Given the description of an element on the screen output the (x, y) to click on. 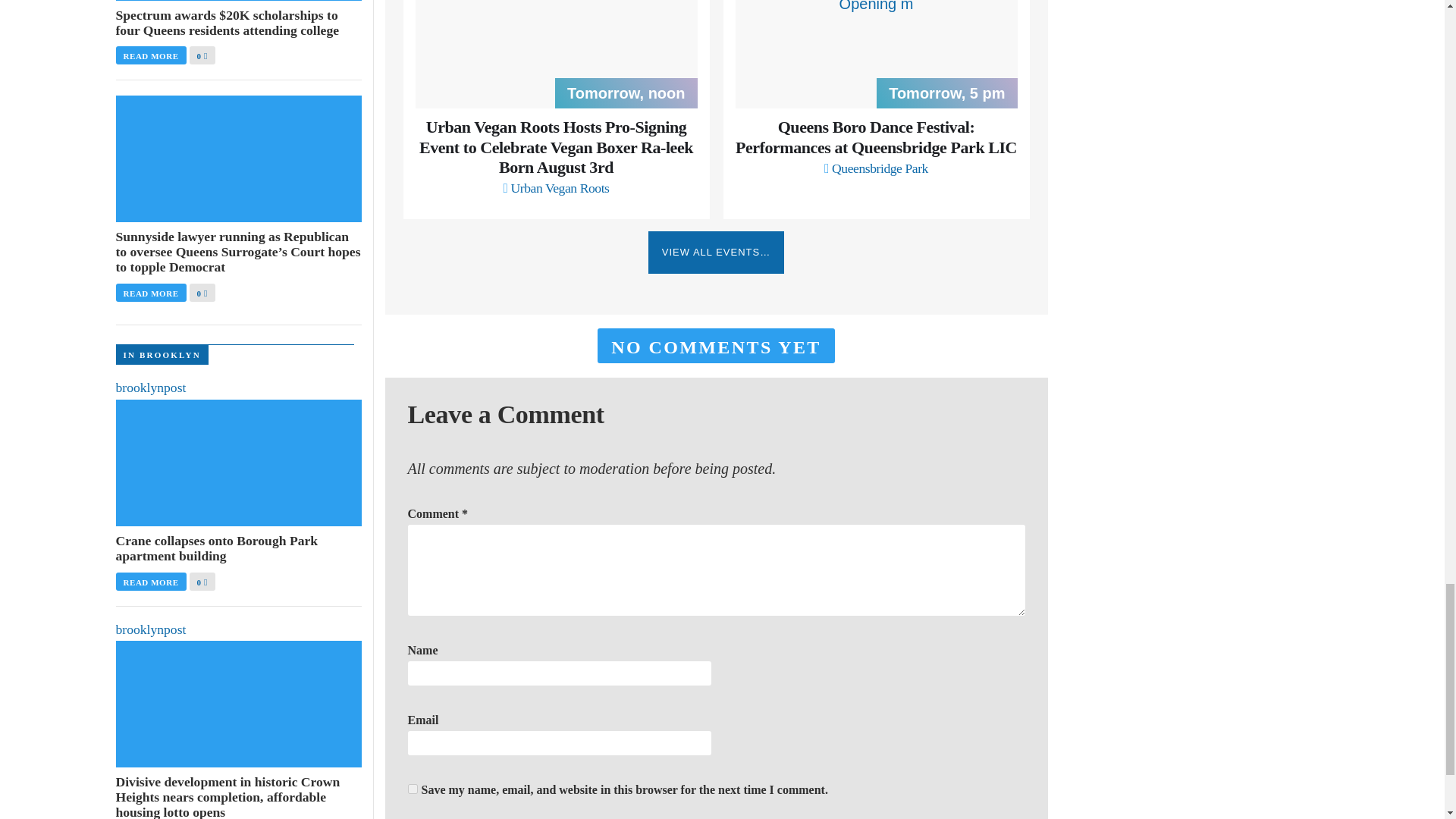
yes (412, 788)
